Given the description of an element on the screen output the (x, y) to click on. 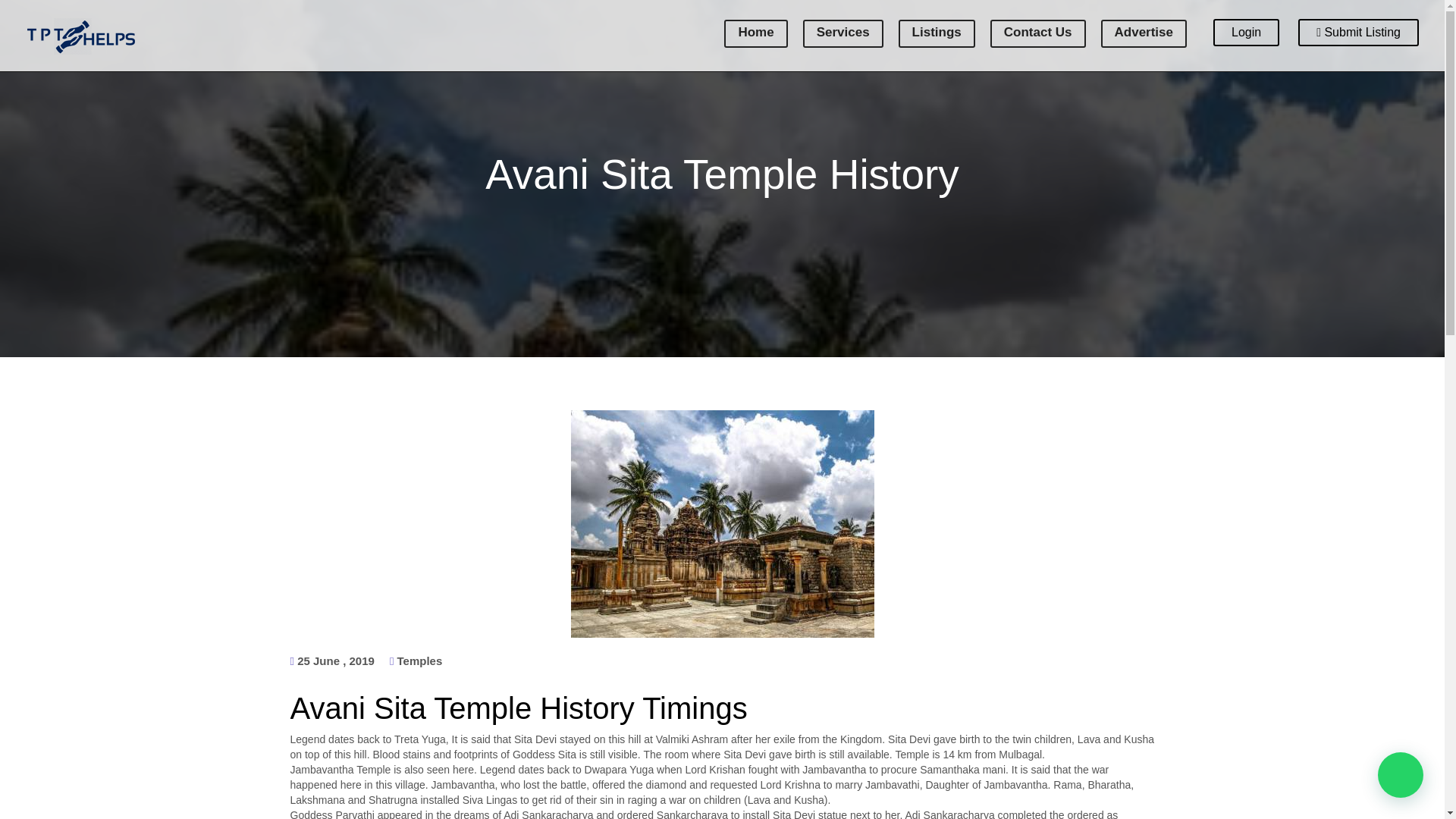
Services (843, 33)
Home (755, 33)
Temples (419, 659)
Login (1245, 31)
Advertise (1143, 33)
Submit Listing (1358, 31)
Listings (936, 33)
Contact Us (1038, 33)
